Given the description of an element on the screen output the (x, y) to click on. 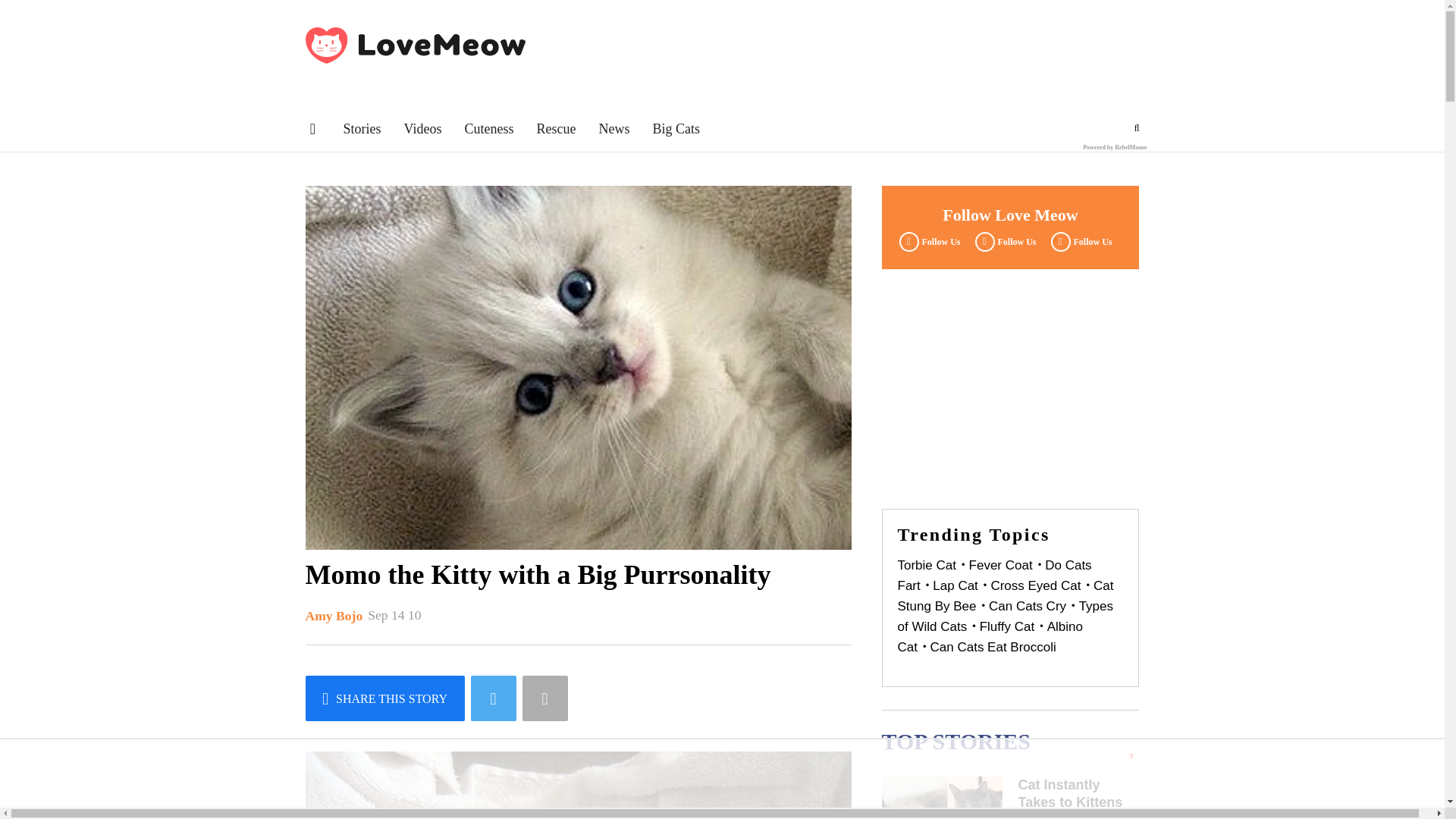
Amy Bojo (333, 616)
Big Cats (676, 128)
Twitter (1003, 241)
Cuteness (488, 128)
Facebook (926, 241)
Powered by RebelMouse (1115, 147)
Best CMS (1115, 147)
Instagram (1079, 241)
